Given the description of an element on the screen output the (x, y) to click on. 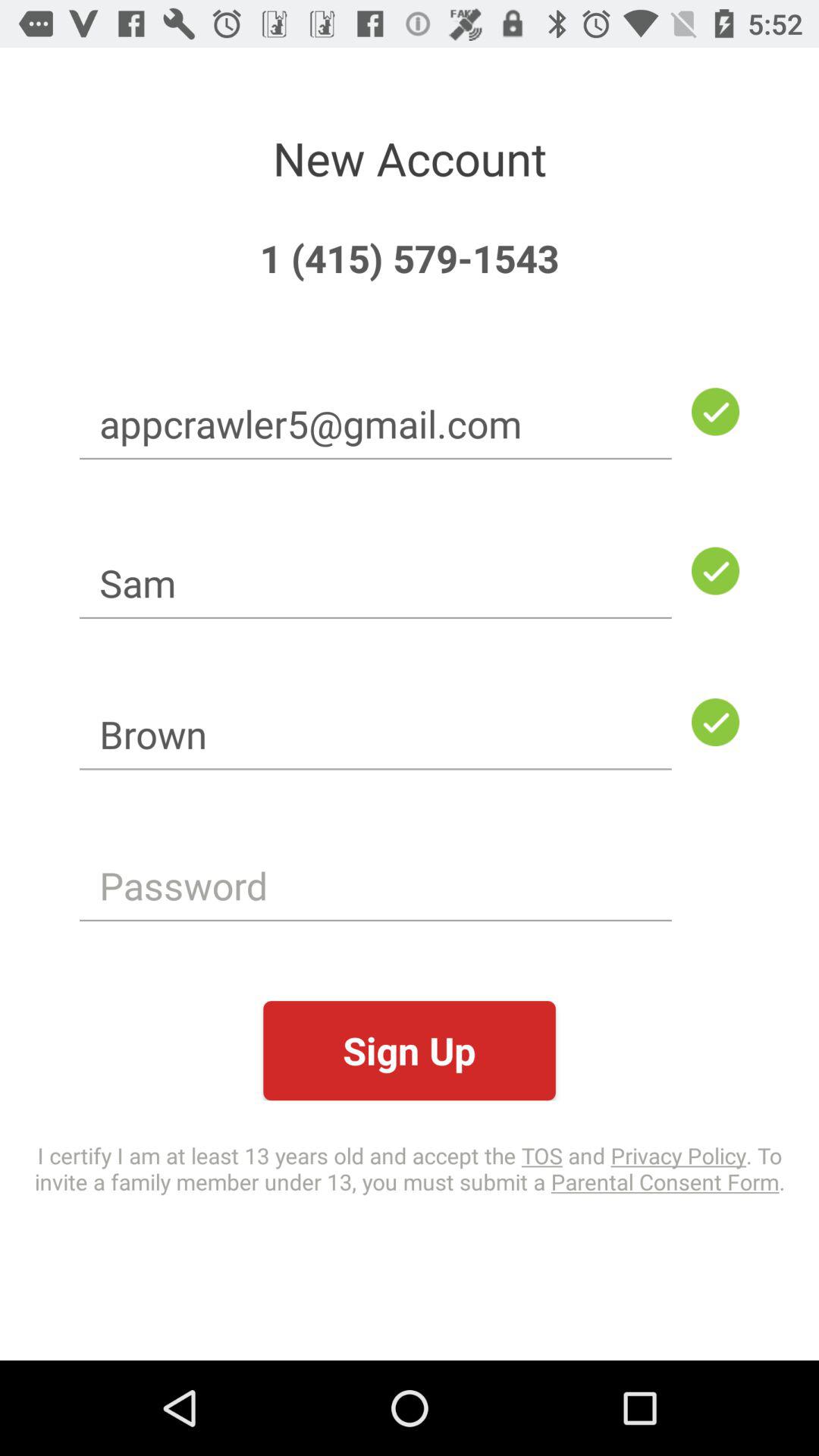
turn off the item below brown item (375, 885)
